Given the description of an element on the screen output the (x, y) to click on. 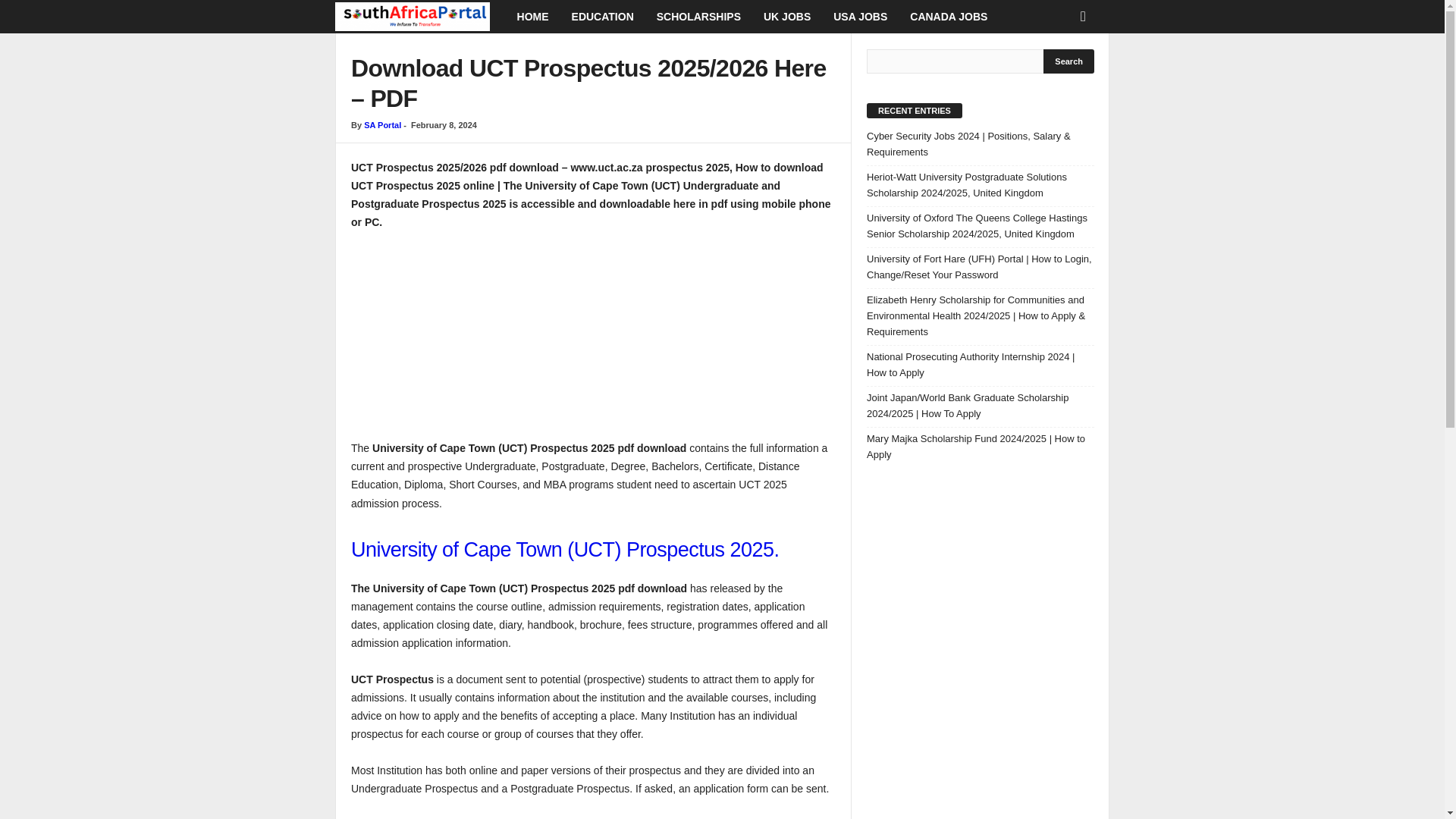
Search (1068, 61)
UK JOBS (787, 16)
South Africa Portal (419, 17)
EDUCATION (602, 16)
SA Portal (382, 124)
HOME (532, 16)
USA JOBS (860, 16)
Search (1068, 61)
CANADA JOBS (948, 16)
SCHOLARSHIPS (698, 16)
